Given the description of an element on the screen output the (x, y) to click on. 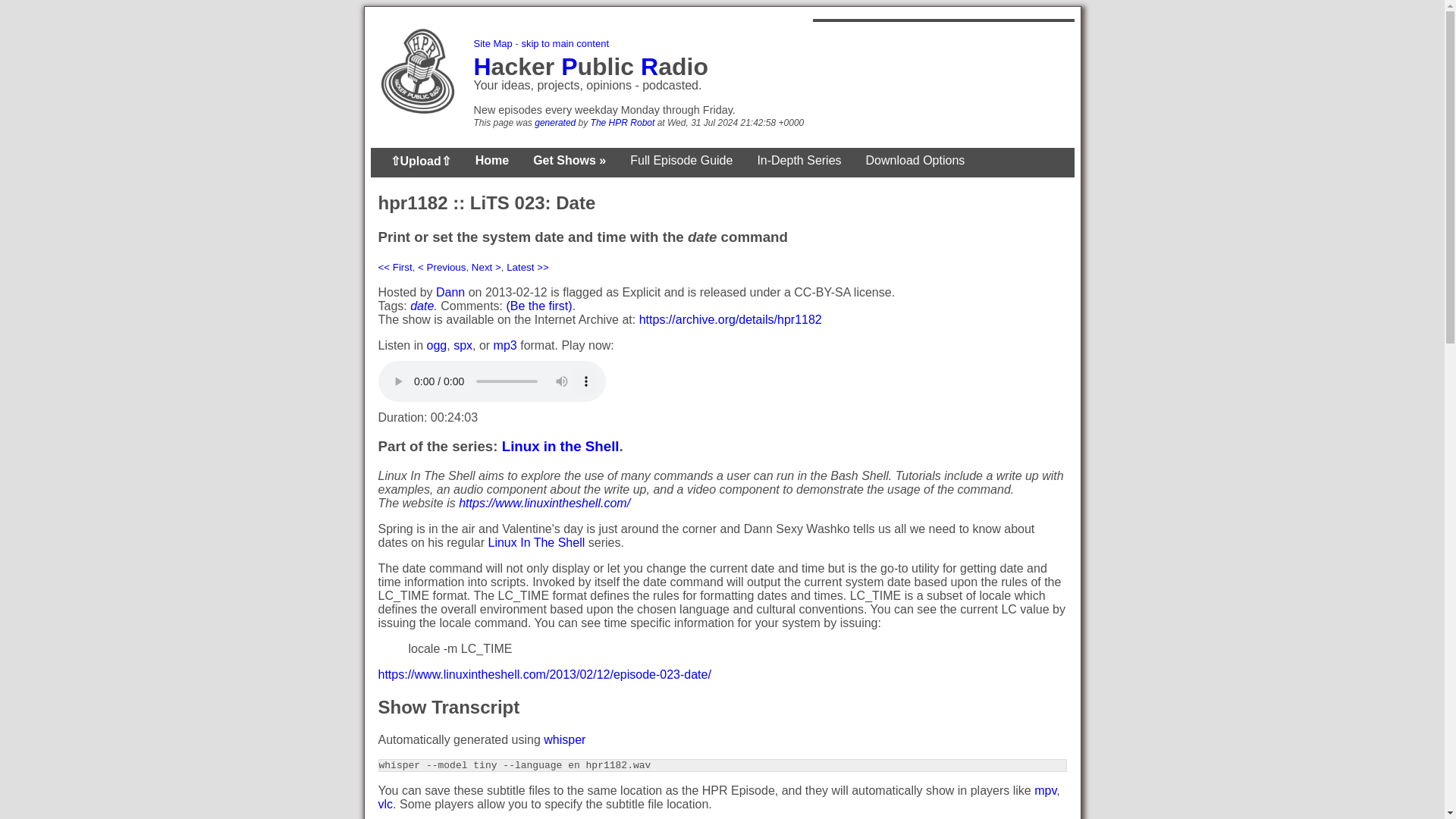
Home (492, 160)
Download Options (915, 160)
mpv (1045, 789)
In-Depth Series (799, 160)
ogg (436, 345)
skip to main content (564, 43)
mp3 (504, 345)
Site Map (492, 43)
Linux in the Shell (561, 446)
The HPR Robot (623, 122)
generated (554, 122)
Dann (449, 291)
date (421, 305)
Linux In The Shell (536, 542)
spx (461, 345)
